Given the description of an element on the screen output the (x, y) to click on. 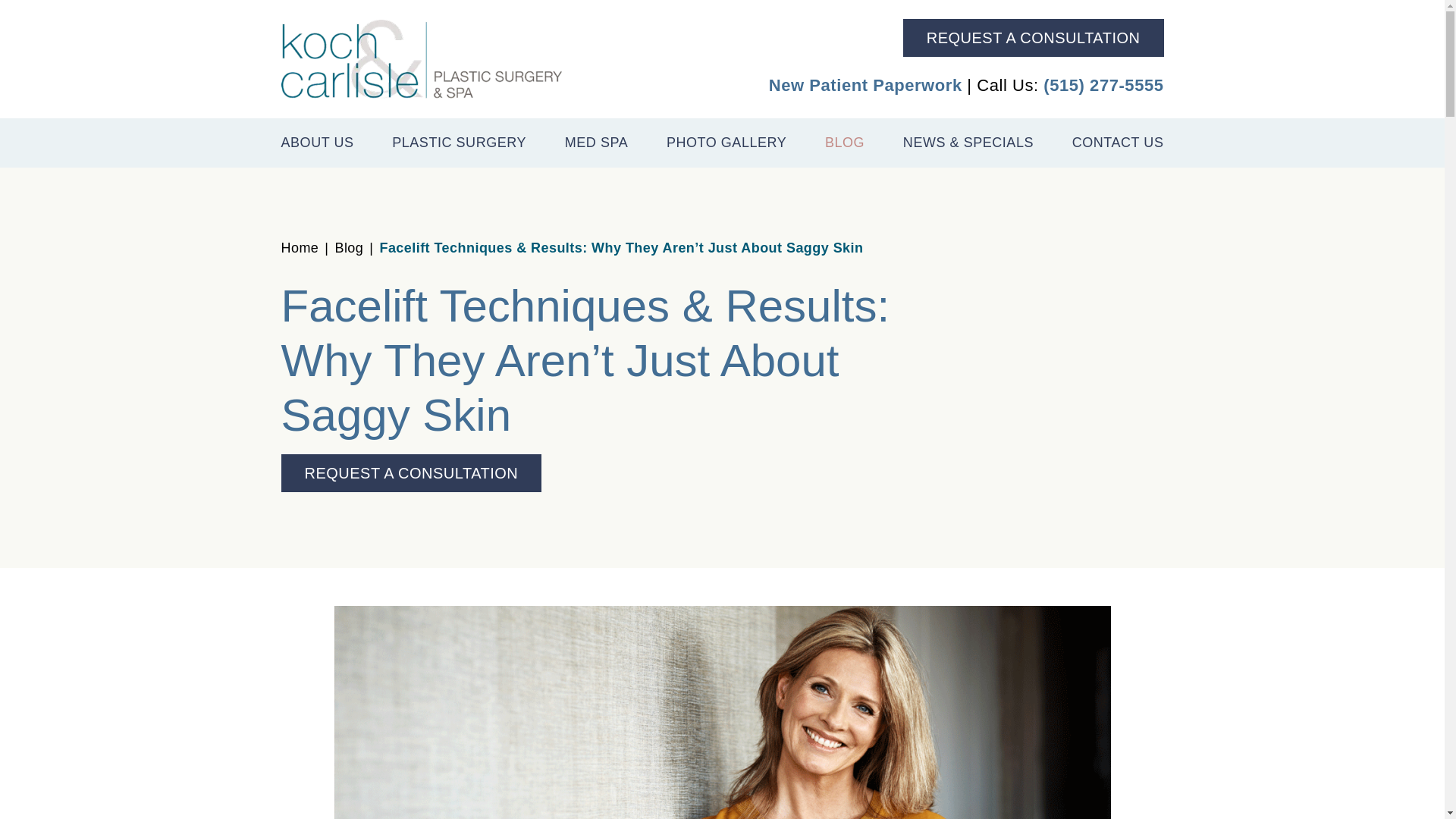
New Patient Paperwork (865, 85)
MED SPA (595, 142)
Go to Blog. (348, 247)
PLASTIC SURGERY (458, 142)
REQUEST A CONSULTATION (1032, 37)
ABOUT US (317, 142)
